Given the description of an element on the screen output the (x, y) to click on. 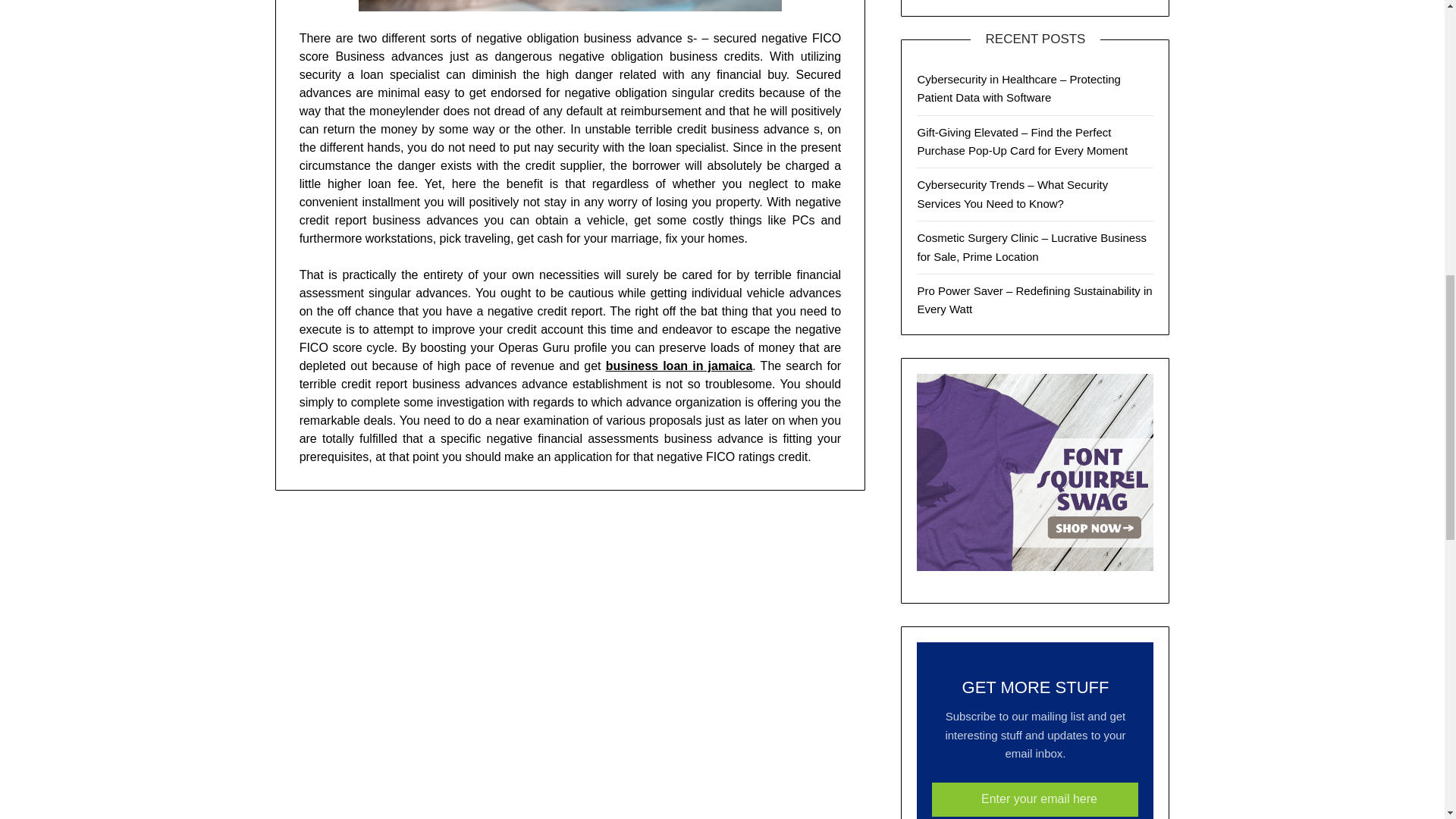
business loan in jamaica (678, 365)
